Given the description of an element on the screen output the (x, y) to click on. 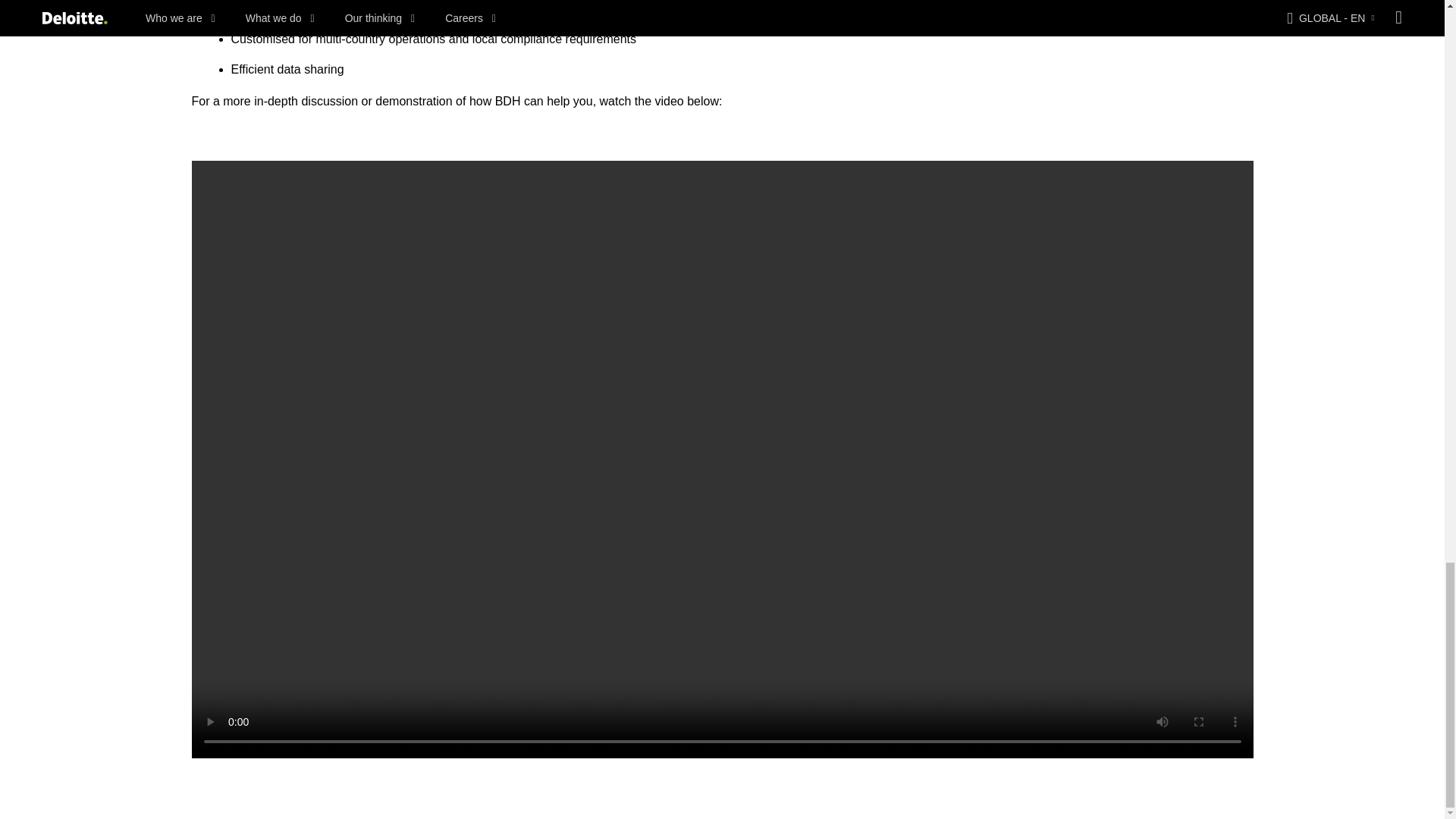
Play Video (722, 459)
